Given the description of an element on the screen output the (x, y) to click on. 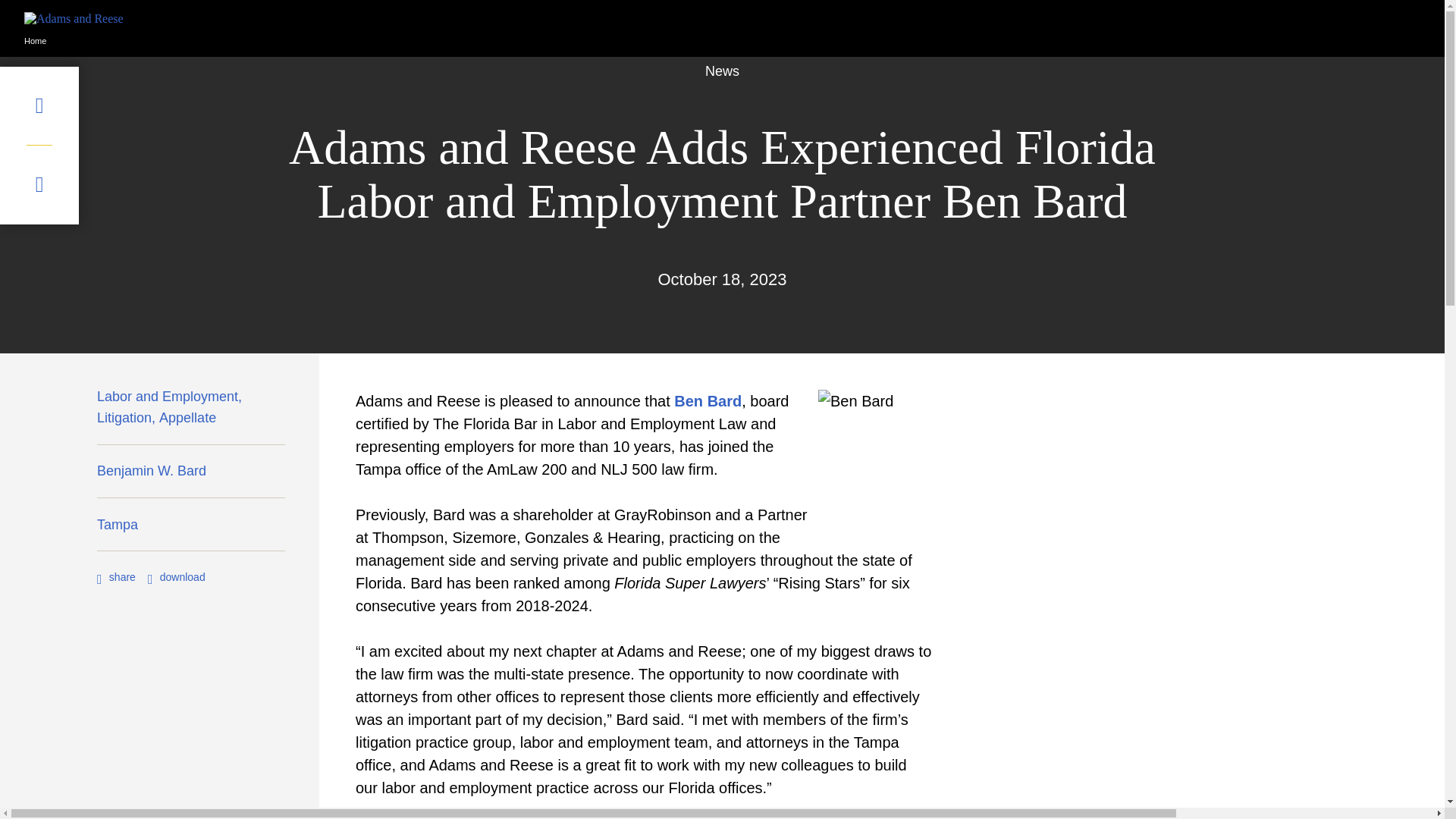
Appellate (186, 421)
download (176, 576)
Benjamin W. Bard (151, 474)
Home (35, 40)
search (39, 184)
Litigation (127, 421)
Tampa (117, 527)
Labor and Employment (171, 400)
Ben Bard (707, 401)
menu (39, 105)
